Given the description of an element on the screen output the (x, y) to click on. 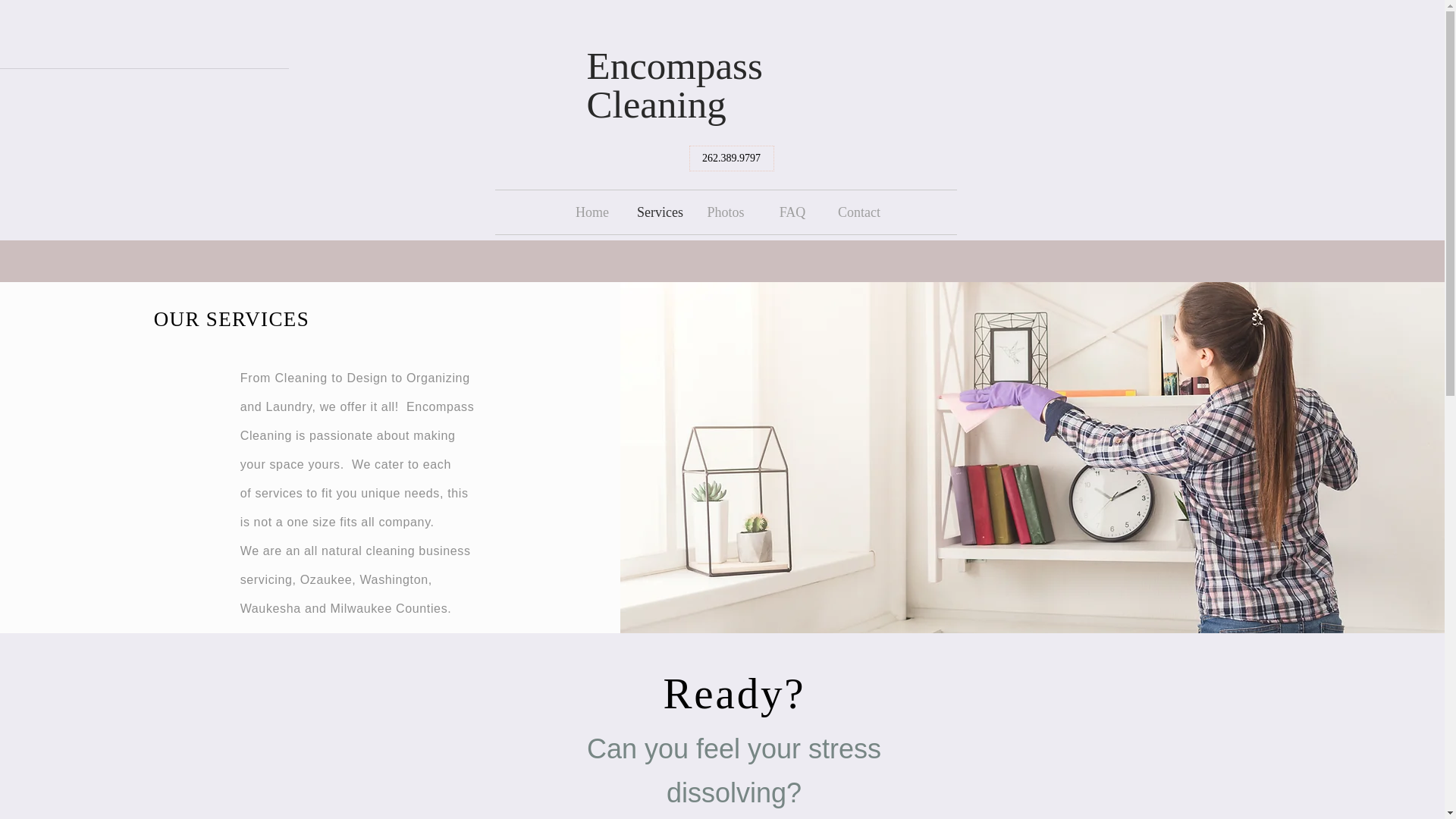
Photos (725, 212)
Home (592, 212)
FAQ (791, 212)
Services (659, 212)
Contact (858, 212)
262.389.9797 (730, 158)
